Given the description of an element on the screen output the (x, y) to click on. 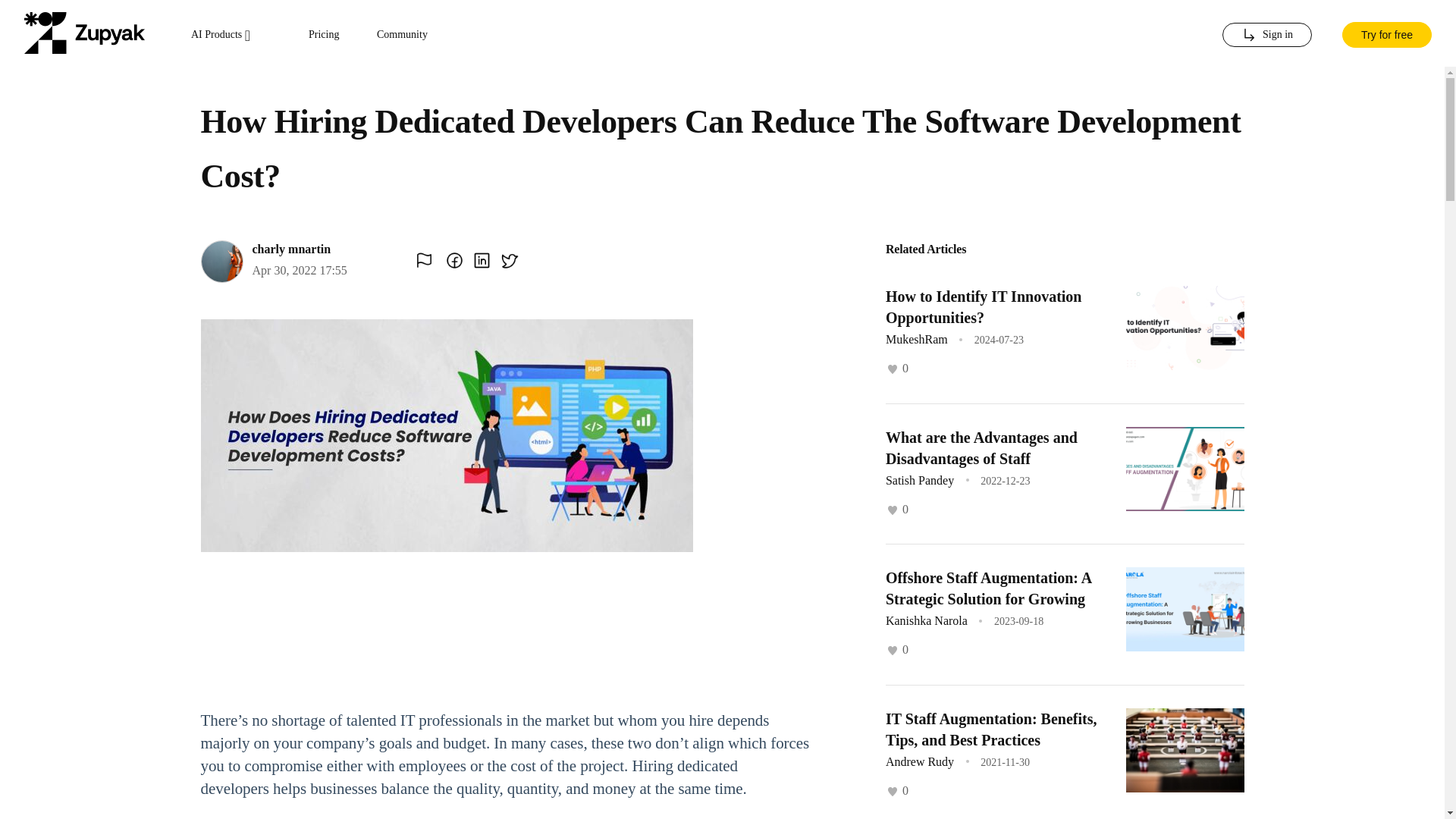
Community (402, 34)
 Sign in (1267, 34)
Try for free (1386, 33)
Pricing (323, 34)
IT Staff Augmentation: Benefits, Tips, and Best Practices (991, 728)
How to Identify IT Innovation Opportunities? (983, 306)
